Given the description of an element on the screen output the (x, y) to click on. 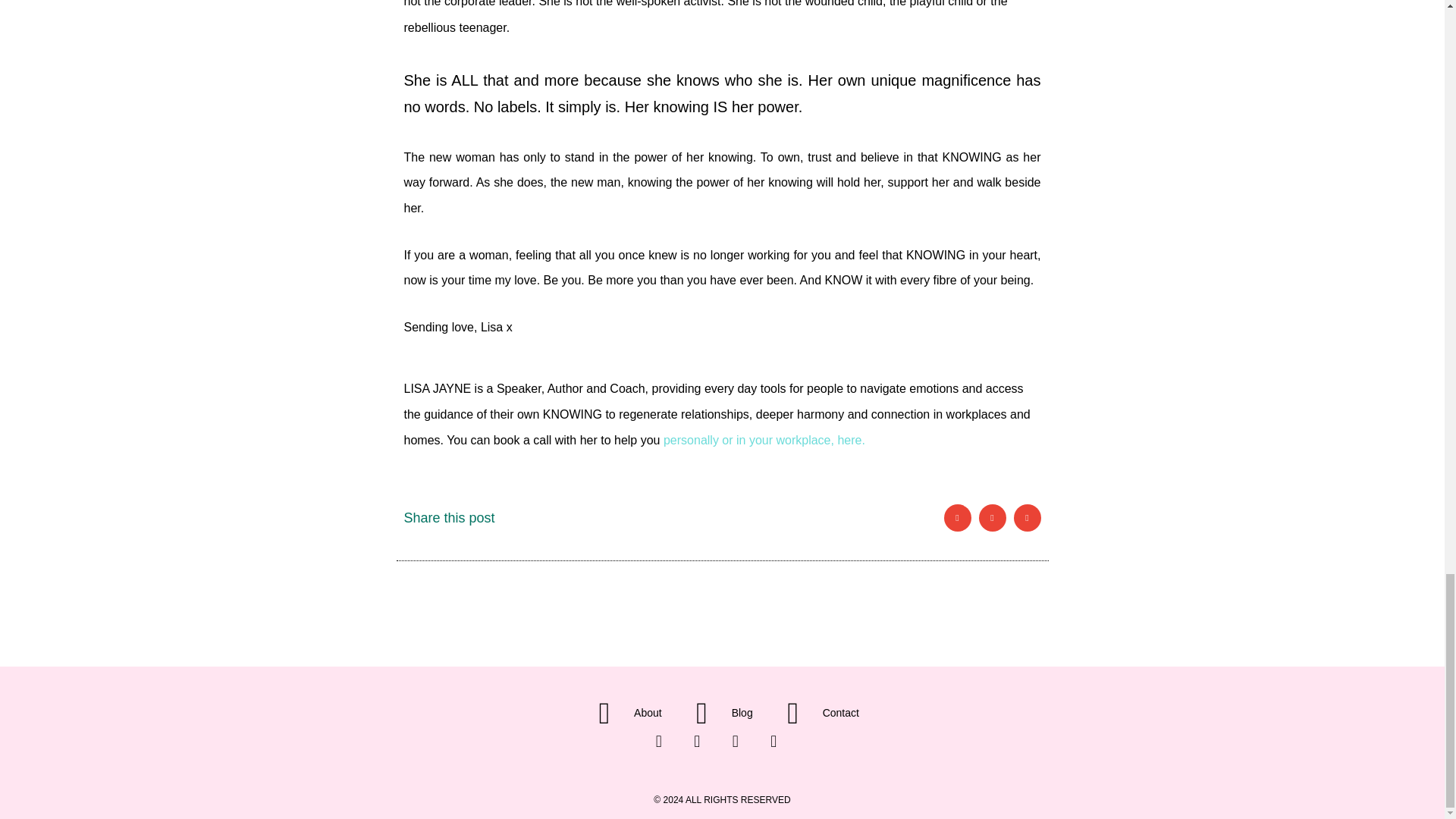
Blog (717, 713)
Contact (816, 713)
personally or in your workplace, here. (763, 440)
About (623, 713)
